Given the description of an element on the screen output the (x, y) to click on. 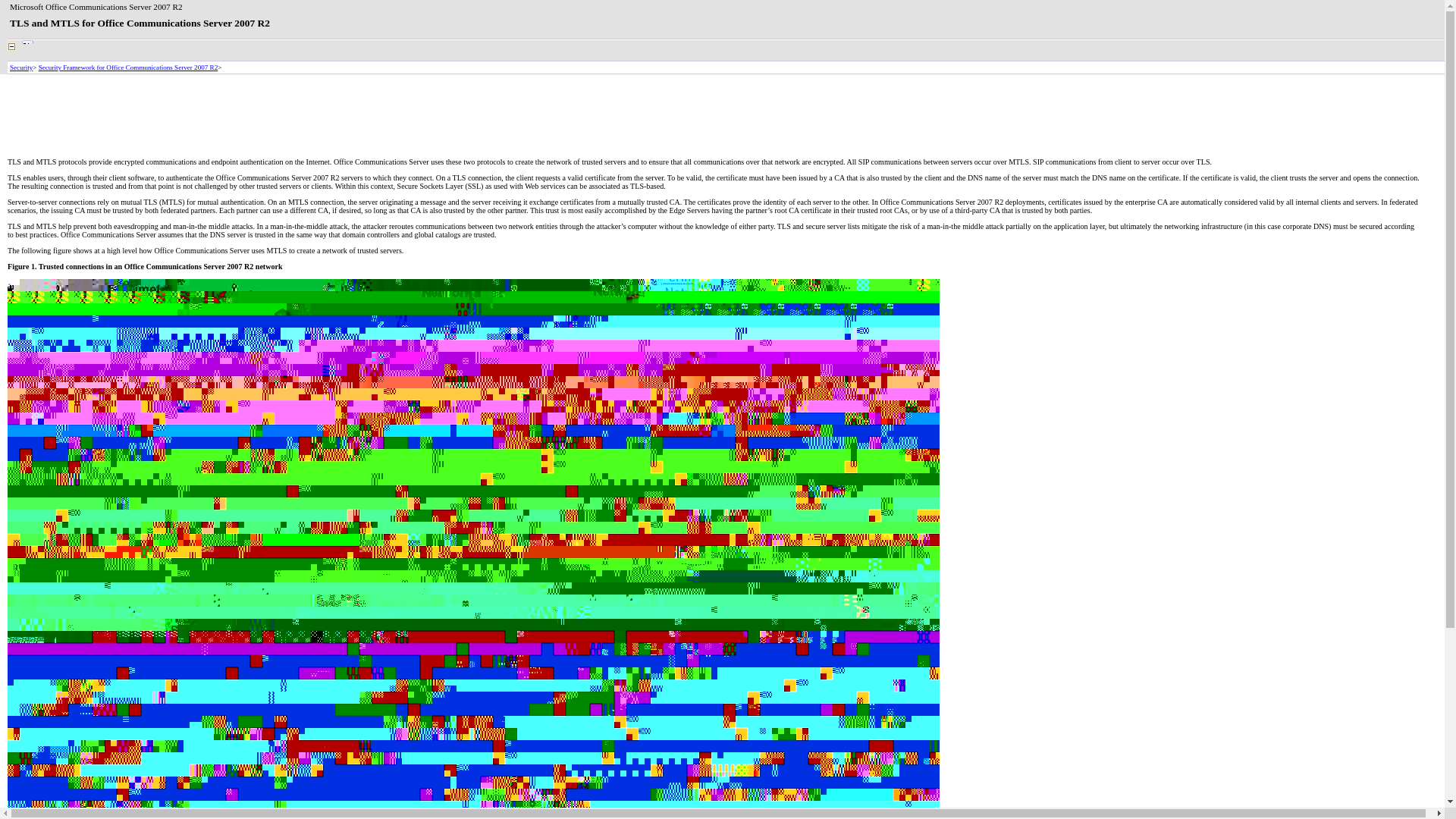
Security (21, 67)
Security Framework for Office Communications Server 2007 R2 (127, 67)
Advertisement (283, 115)
